Given the description of an element on the screen output the (x, y) to click on. 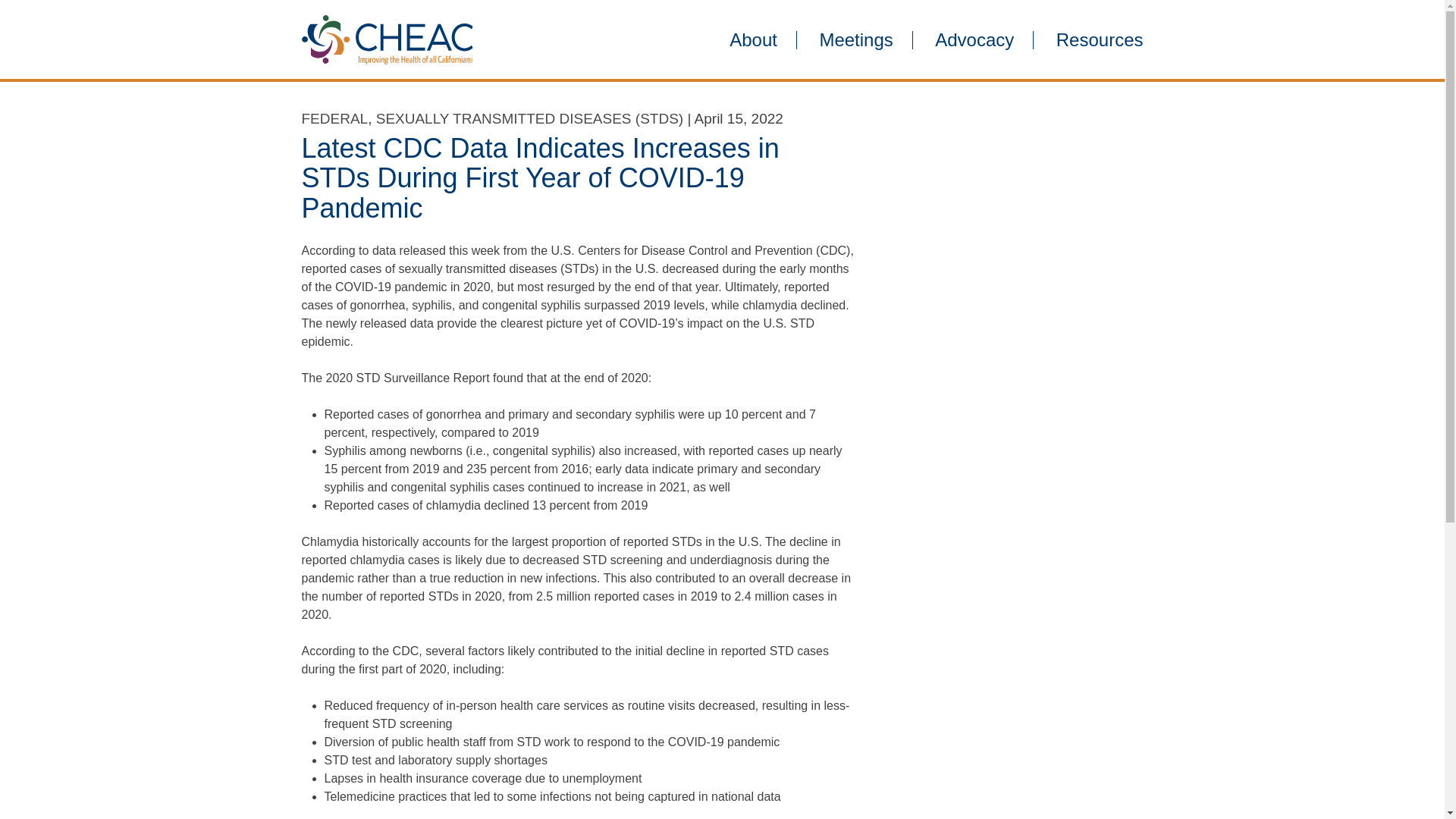
FEDERAL (334, 118)
Advocacy (974, 40)
Resources (1089, 40)
Meetings (855, 40)
About (753, 40)
